Given the description of an element on the screen output the (x, y) to click on. 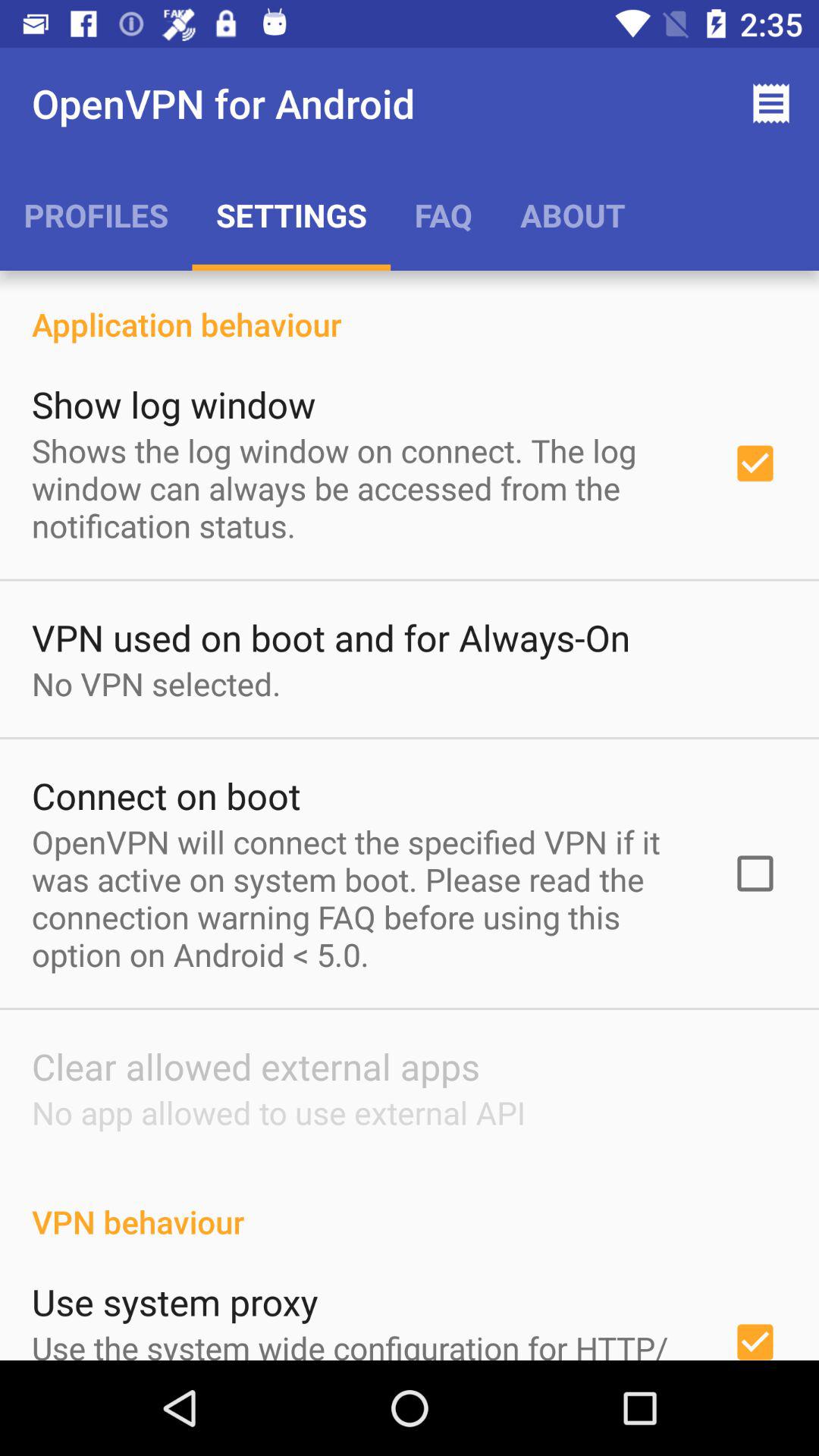
turn on the application behaviour (409, 307)
